Given the description of an element on the screen output the (x, y) to click on. 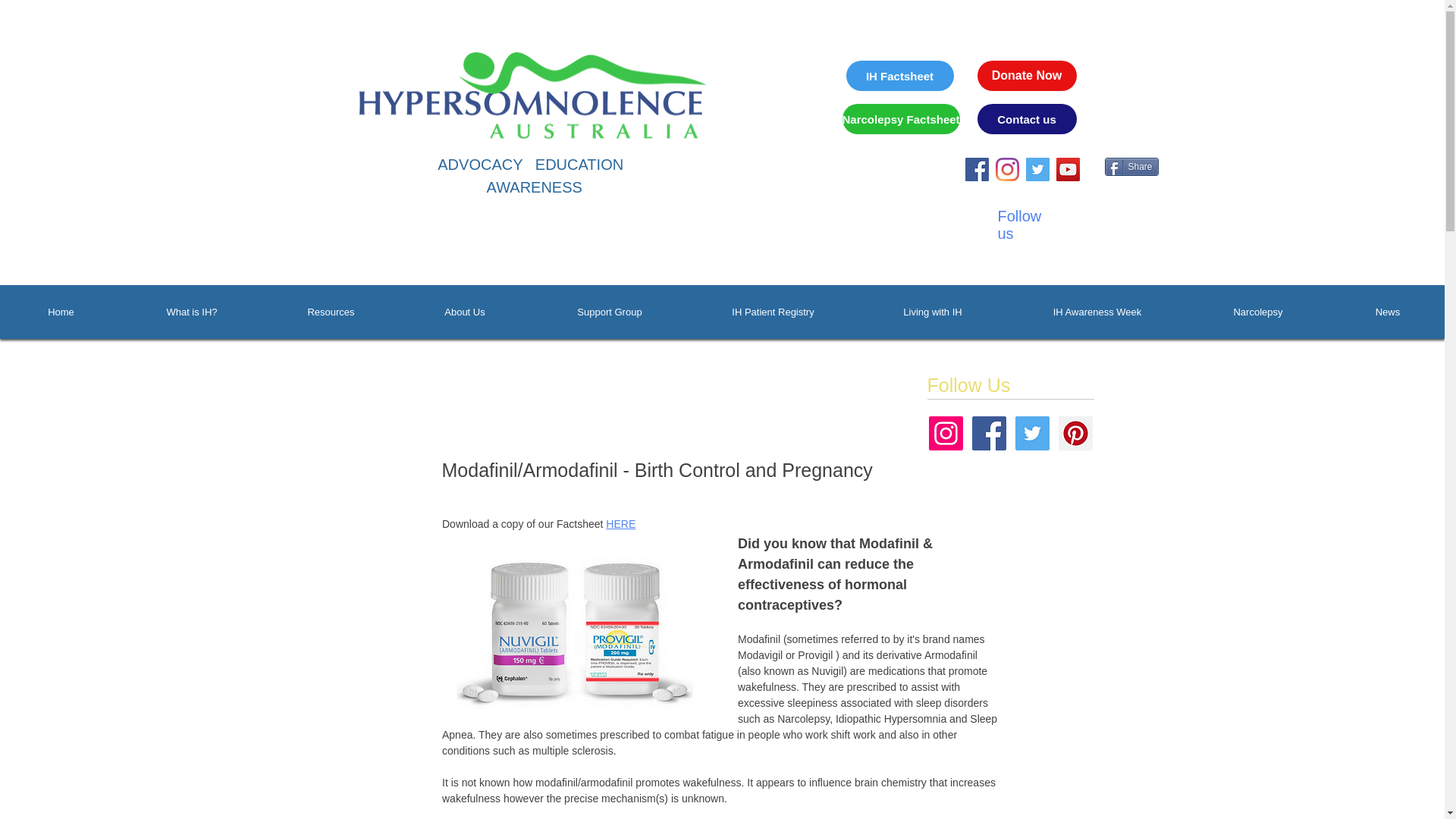
About Us (464, 311)
IH Patient Registry (773, 311)
Support Group (608, 311)
Contact us (1025, 119)
Site Search (868, 201)
Narcolepsy Factsheet (900, 119)
Share (1130, 167)
Living with IH (933, 311)
Home (60, 311)
HERE (619, 523)
IH Awareness Week (1097, 311)
Share (1130, 167)
Narcolepsy (1257, 311)
What is IH? (192, 311)
Online Store (1136, 90)
